Given the description of an element on the screen output the (x, y) to click on. 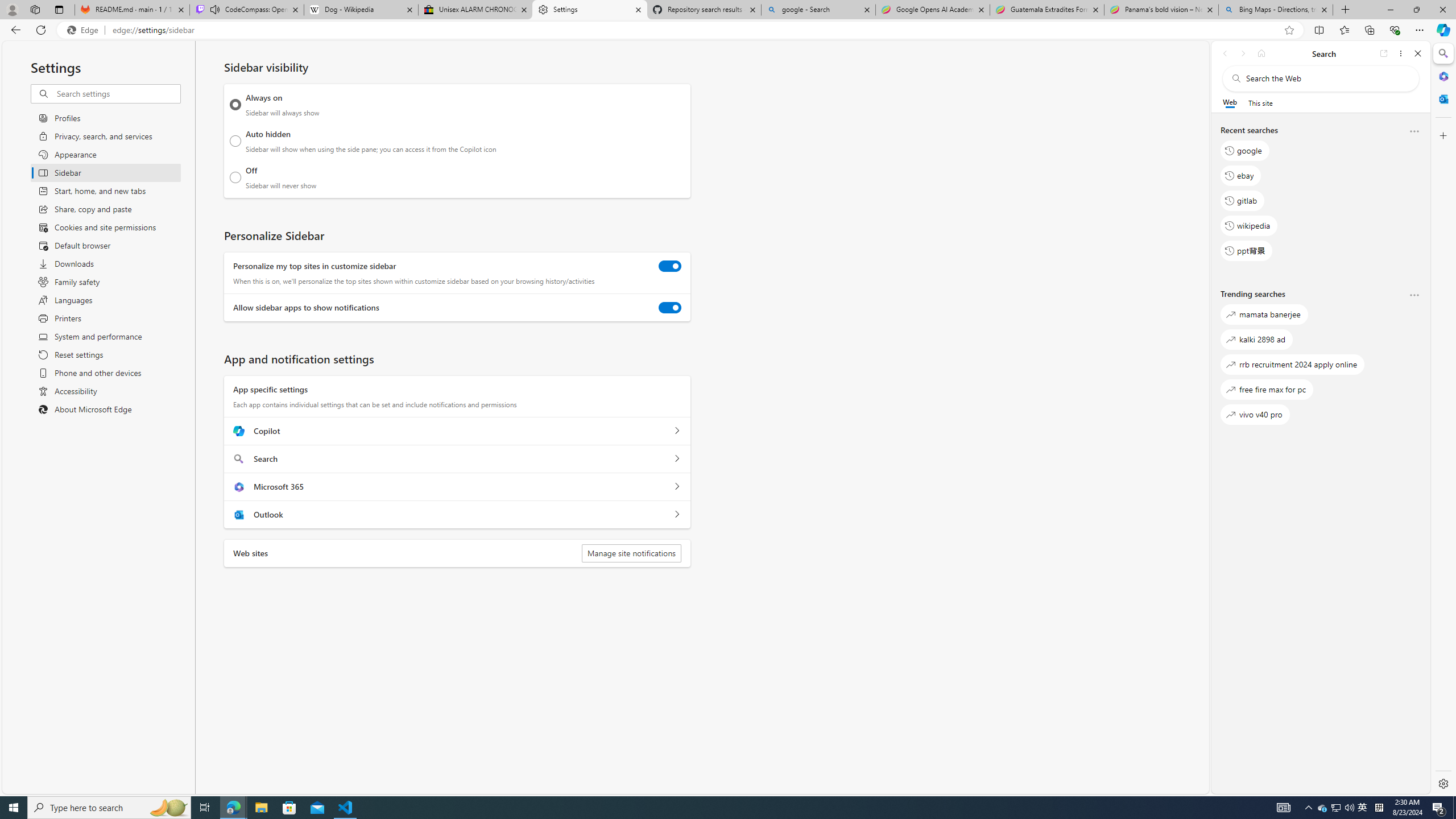
Dog - Wikipedia (360, 9)
Off Sidebar will never show (235, 177)
Manage site notifications (630, 553)
mamata banerjee (1263, 314)
Allow sidebar apps to show notifications (669, 307)
